Given the description of an element on the screen output the (x, y) to click on. 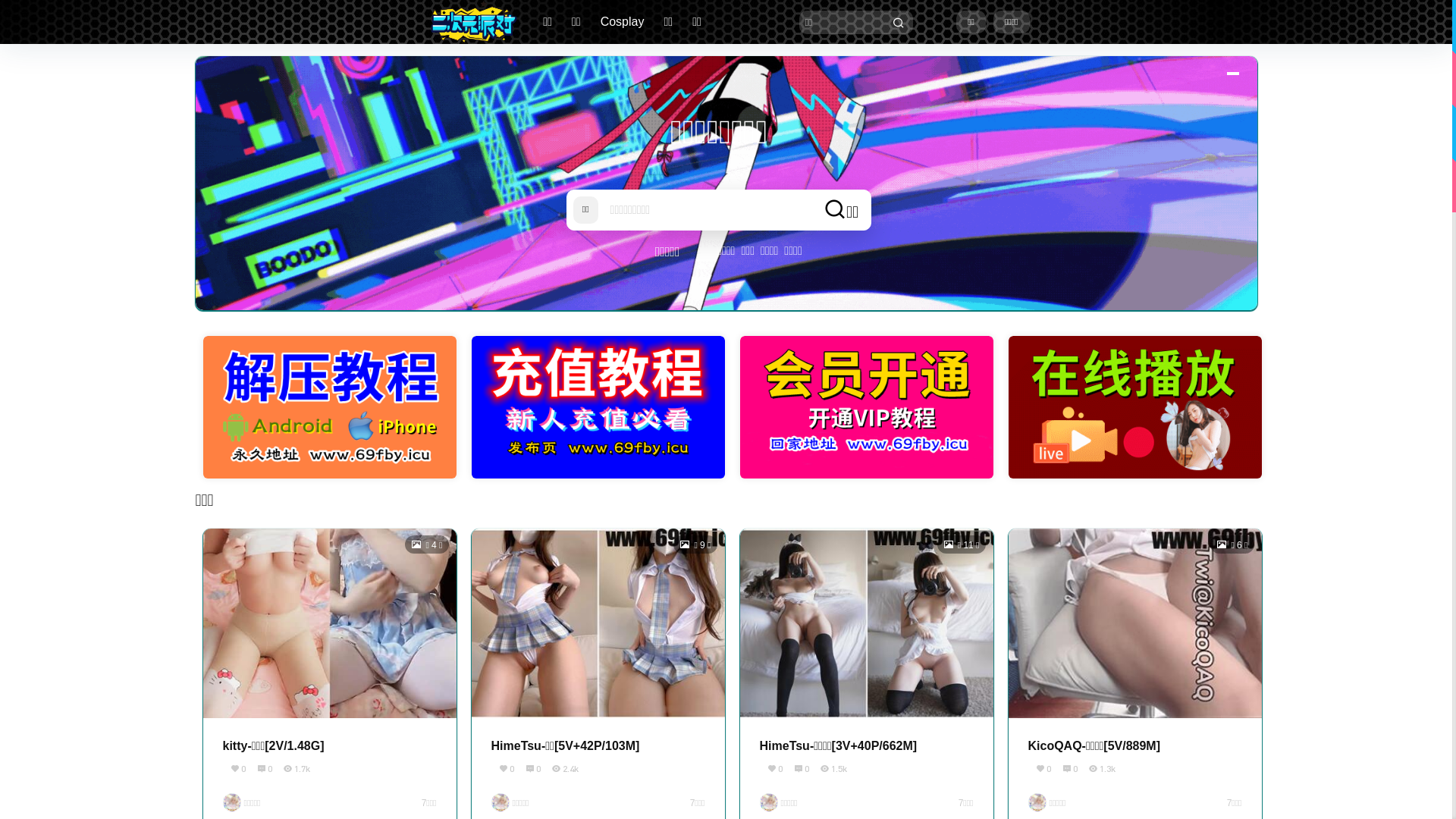
ok Element type: text (10, 10)
Cosplay Element type: text (622, 21)
